Given the description of an element on the screen output the (x, y) to click on. 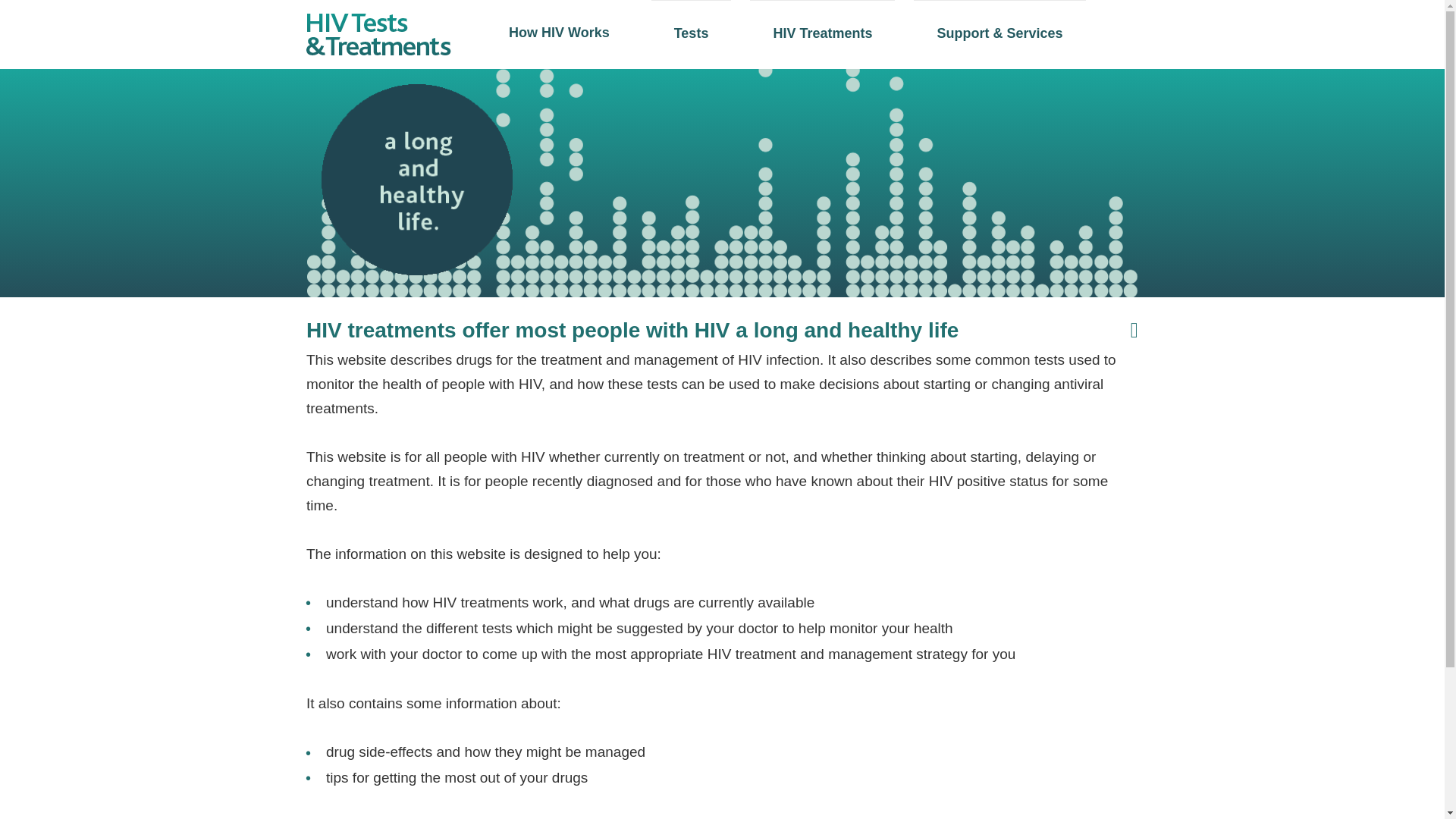
Tests Element type: text (691, 32)
HIV Treatments Element type: text (821, 32)
How HIV Works Element type: text (559, 32)
Support & Services Element type: text (999, 32)
